Given the description of an element on the screen output the (x, y) to click on. 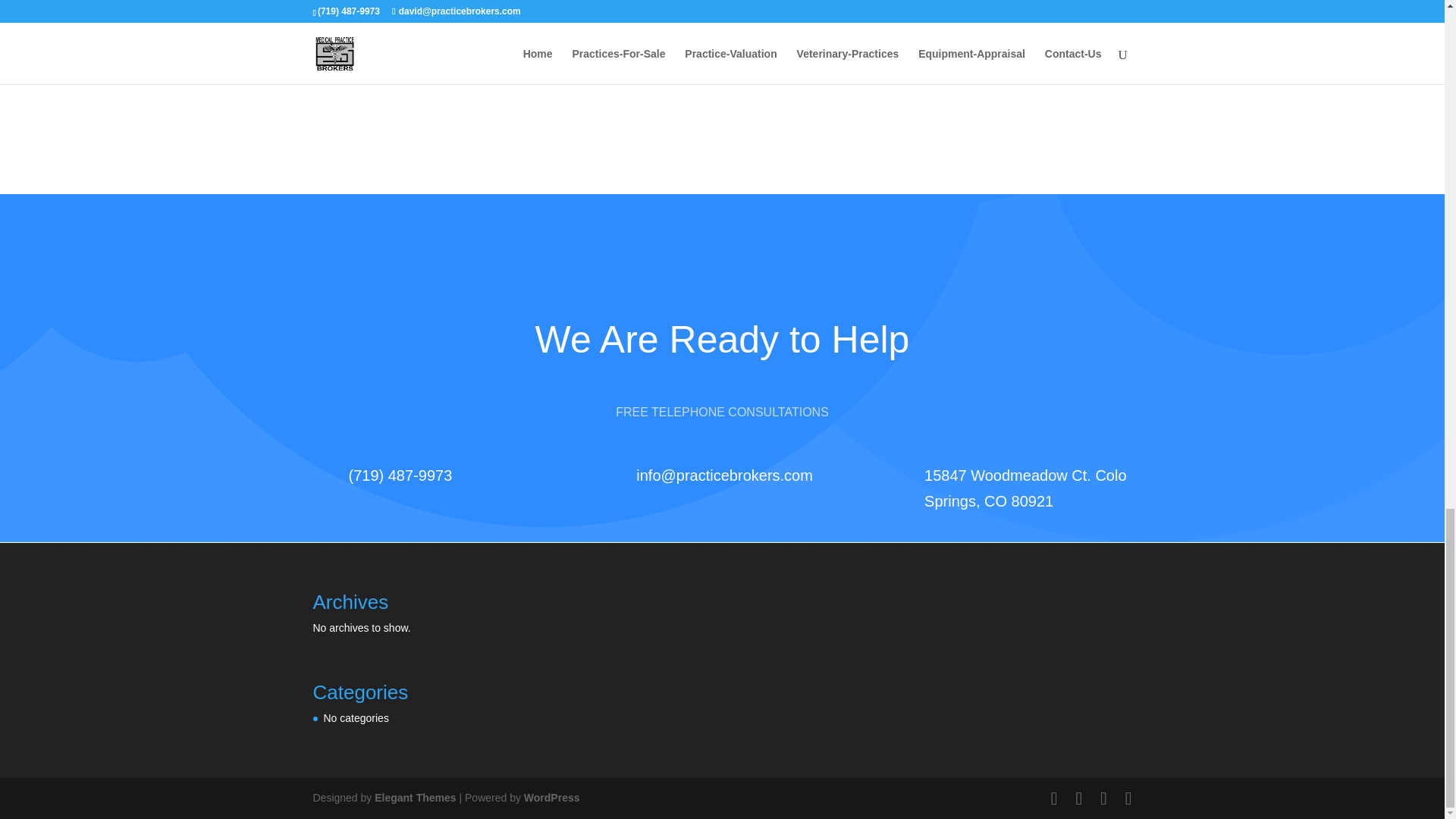
Elegant Themes (414, 797)
Premium WordPress Themes (414, 797)
WordPress (551, 797)
